Given the description of an element on the screen output the (x, y) to click on. 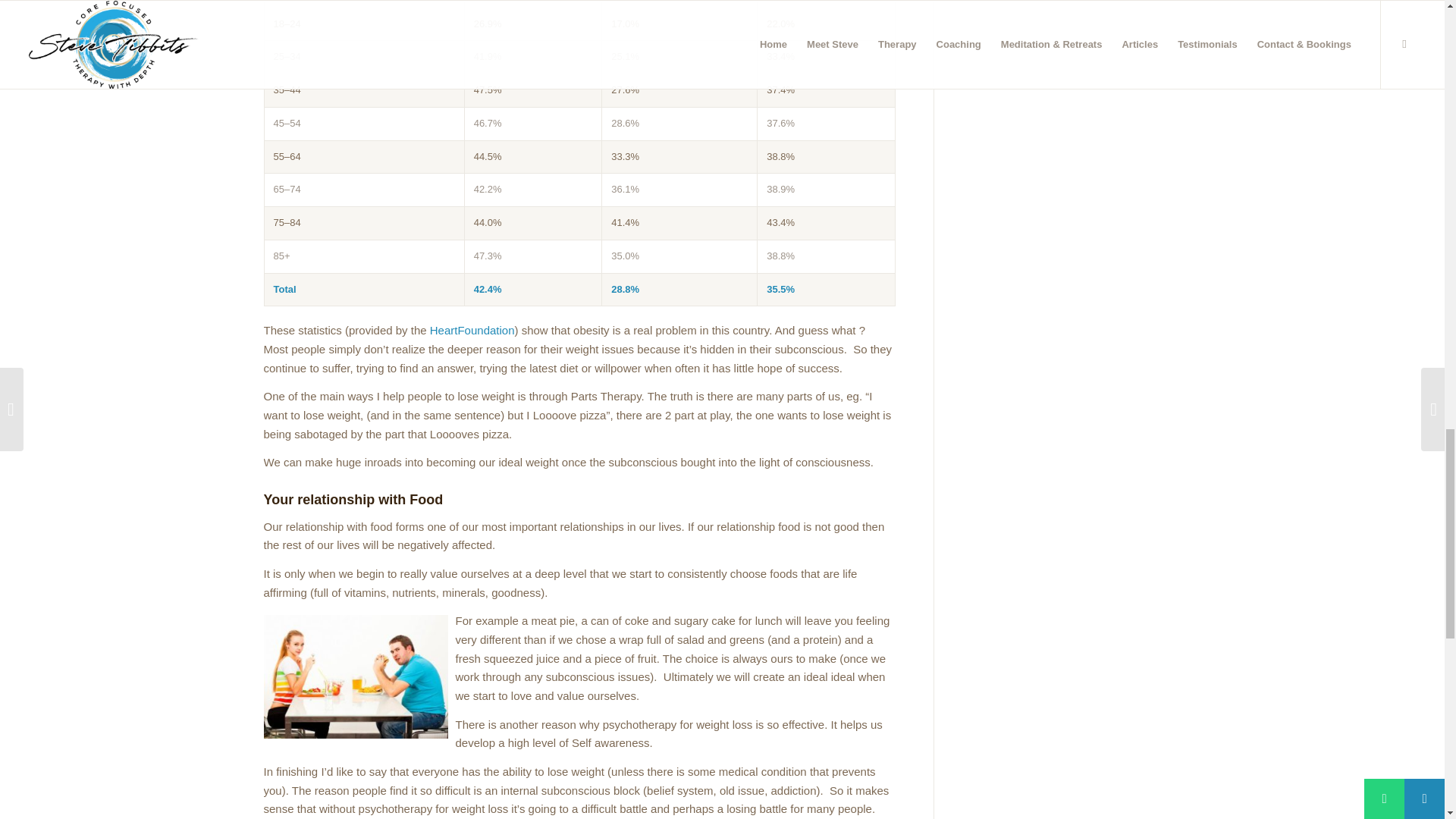
HeartFoundation (472, 329)
